Given the description of an element on the screen output the (x, y) to click on. 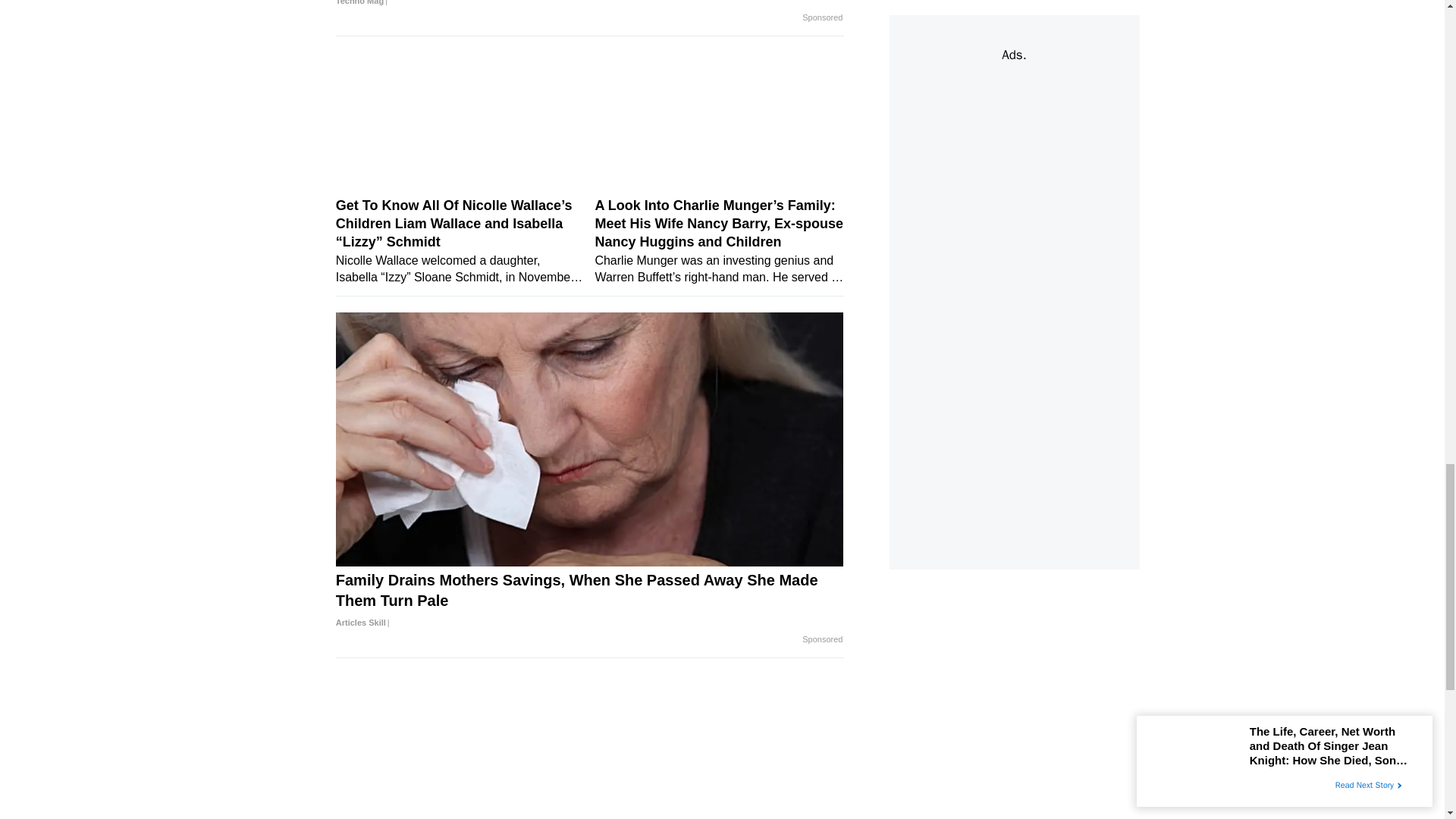
Sponsored (822, 639)
Sponsored (822, 18)
Why Seniors are snapping up this TV Box, we explain! (590, 5)
